Given the description of an element on the screen output the (x, y) to click on. 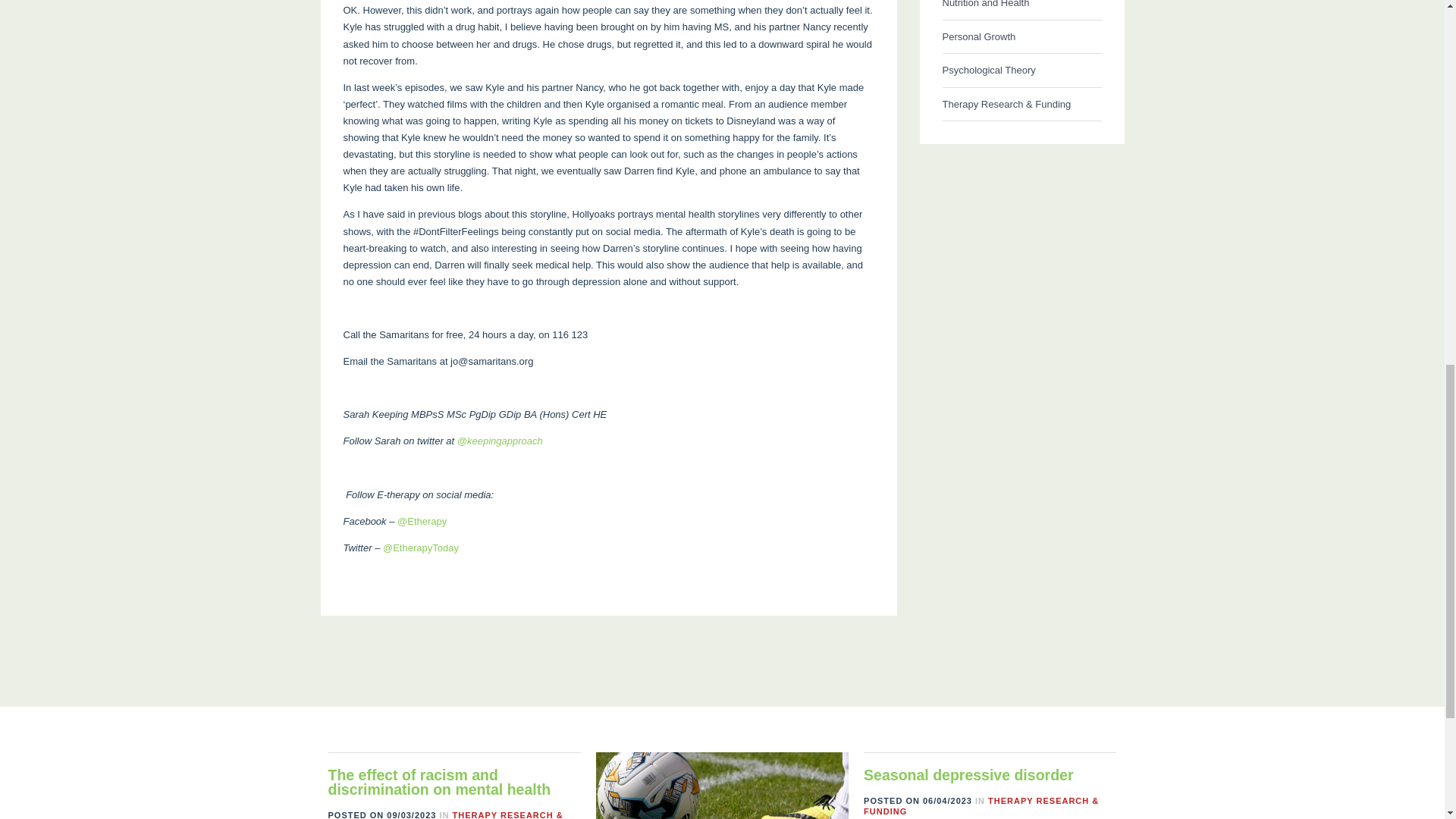
Personal Growth (1021, 36)
Psychological Theory (1021, 70)
The effect of racism and discrimination on mental health (438, 782)
Nutrition and Health (1021, 10)
Seasonal depressive disorder (968, 774)
